Given the description of an element on the screen output the (x, y) to click on. 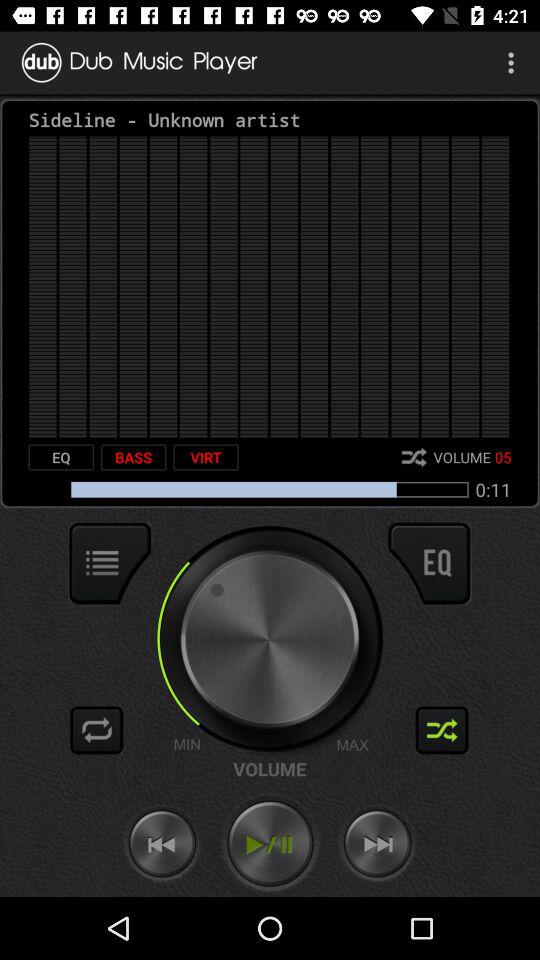
scroll until the   eq   icon (61, 457)
